Given the description of an element on the screen output the (x, y) to click on. 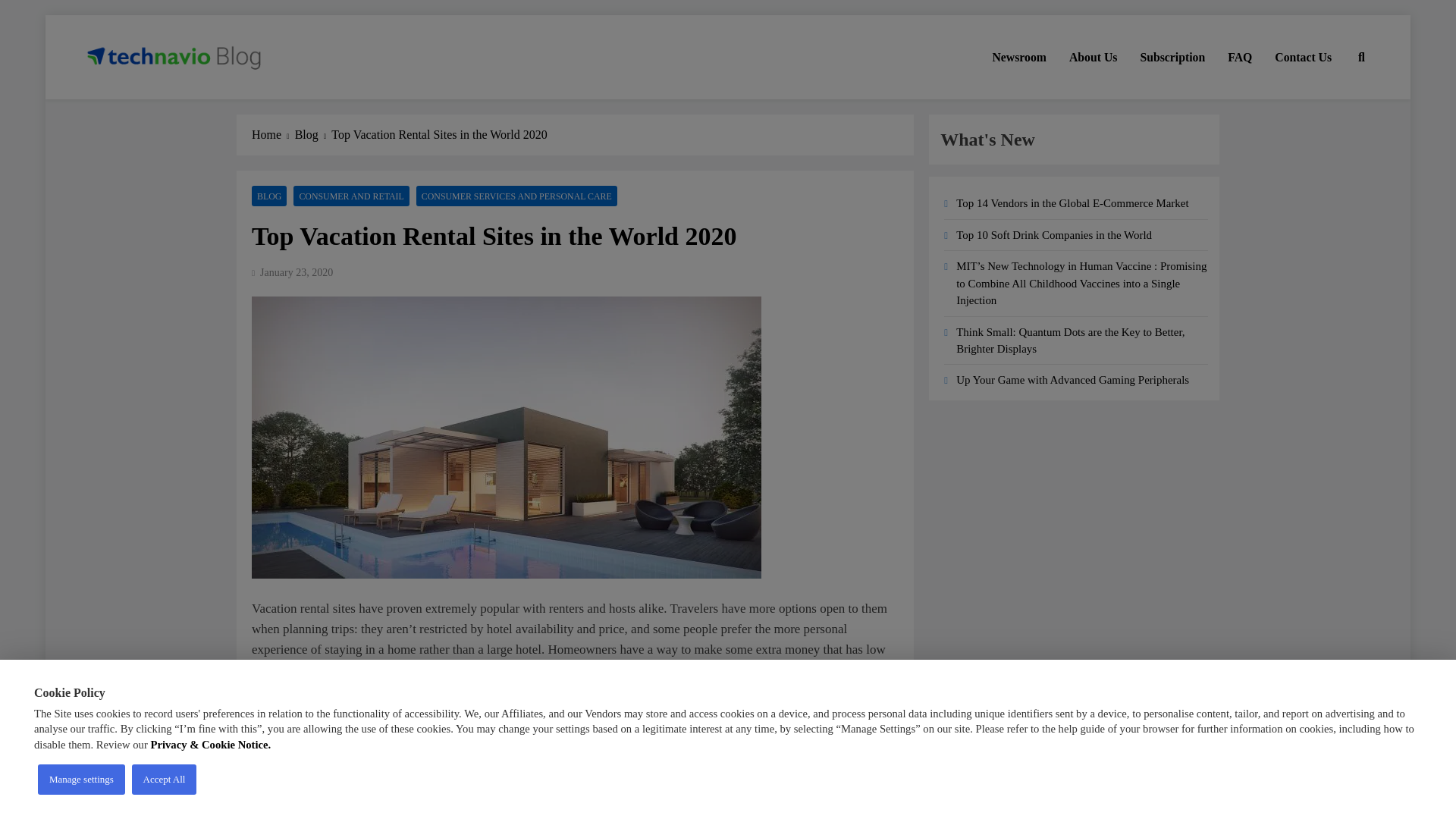
Newsroom (1019, 56)
About Us (1093, 56)
Top 14 Vendors in the Global E-Commerce Market (1072, 203)
BLOG (268, 195)
FAQ (1239, 56)
Subscription (1171, 56)
CONSUMER AND RETAIL (351, 195)
January 23, 2020 (296, 272)
Contact Us (1302, 56)
